Given the description of an element on the screen output the (x, y) to click on. 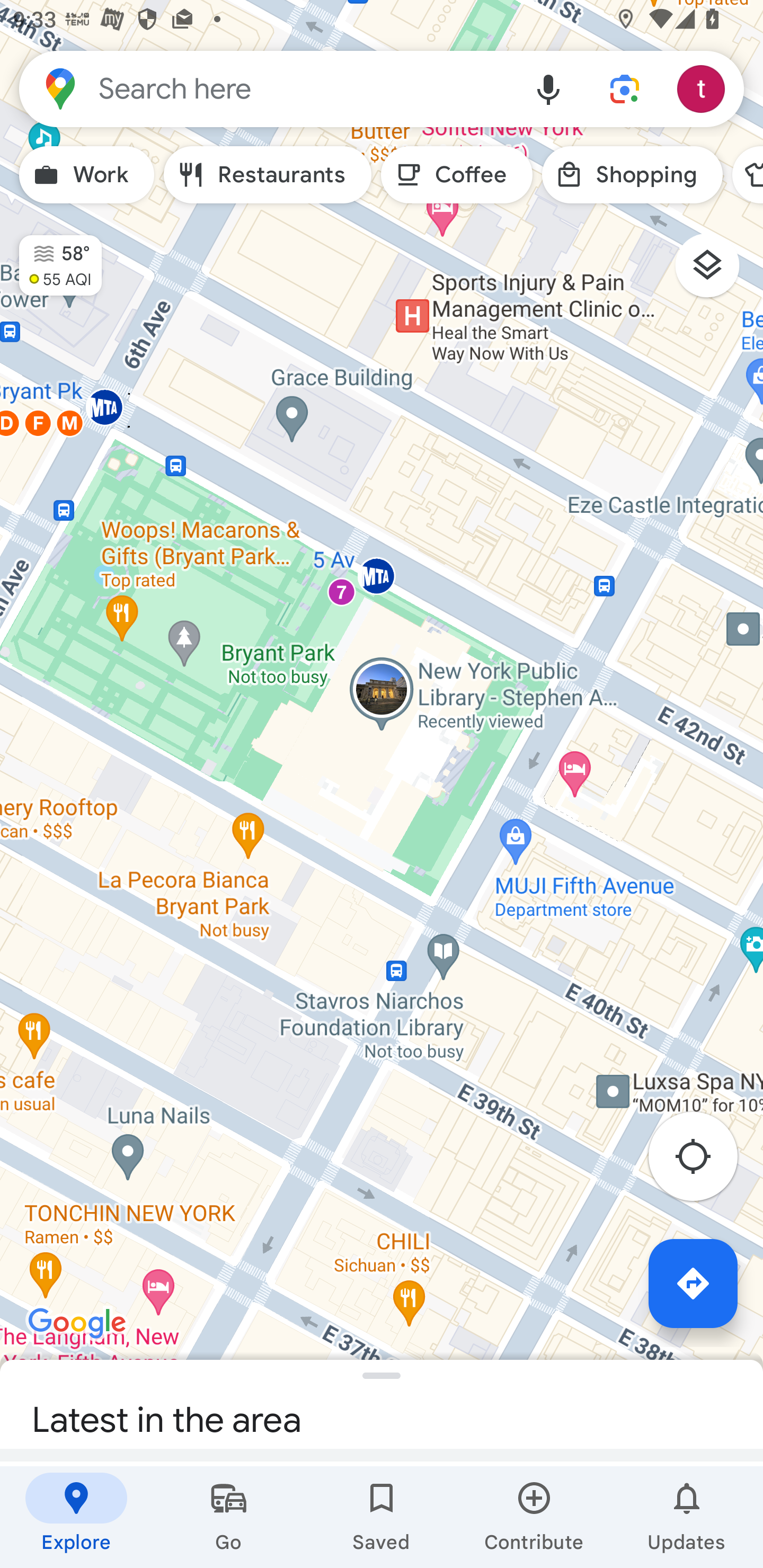
Search here (264, 88)
Voice search (548, 88)
Lens in Maps (624, 88)
Work (86, 174)
Restaurants Search for Restaurants (267, 174)
Coffee Search for Coffee (456, 174)
Shopping Search for Shopping (631, 174)
Mist, 58°, Moderate, 55 AQI 58° 55 AQI (50, 257)
Layers (716, 271)
Re-center map to your location (702, 1161)
Directions (692, 1283)
Go (228, 1517)
Saved (381, 1517)
Contribute (533, 1517)
Updates (686, 1517)
